Given the description of an element on the screen output the (x, y) to click on. 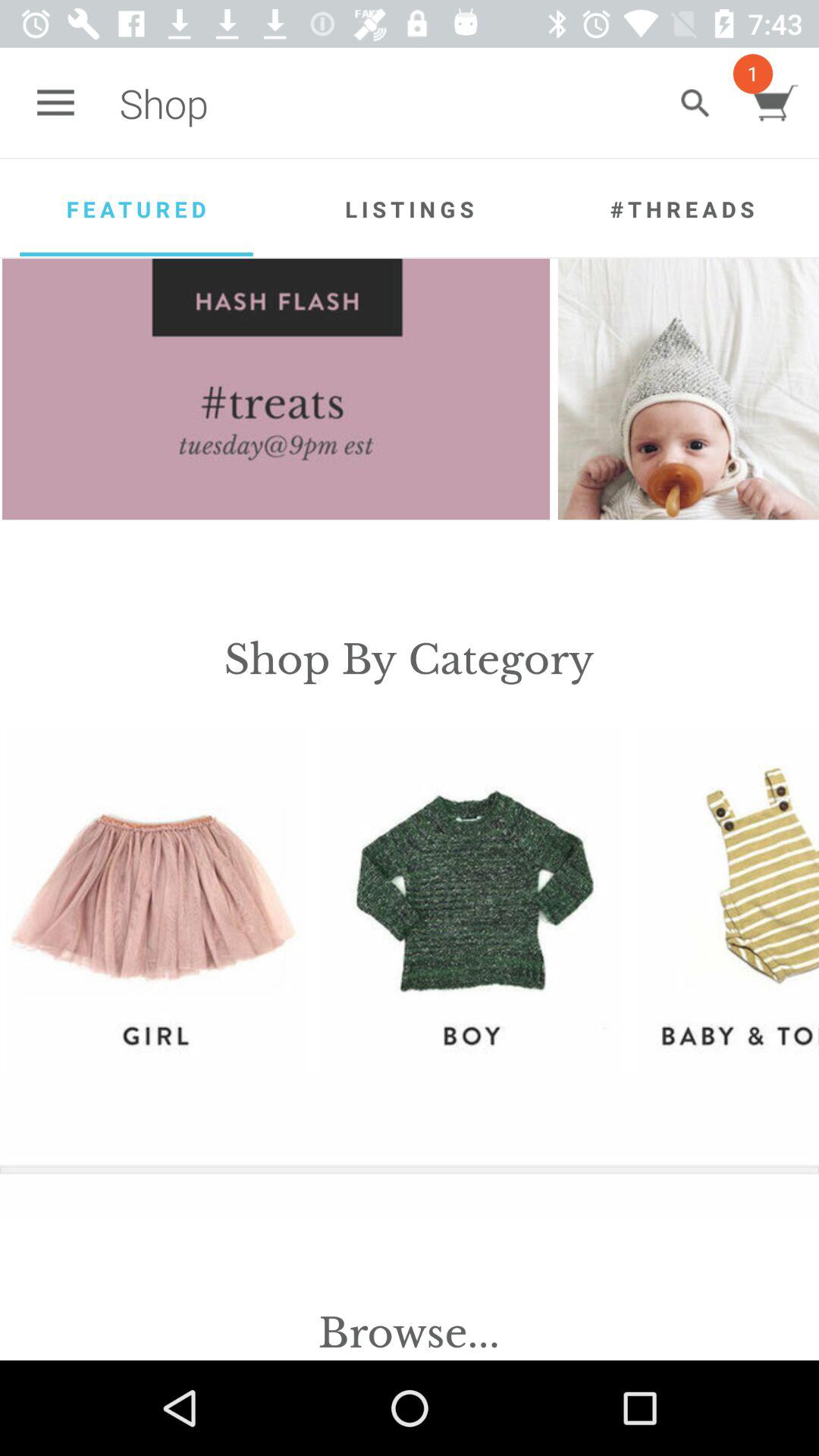
press icon below the shop by category item (469, 899)
